Given the description of an element on the screen output the (x, y) to click on. 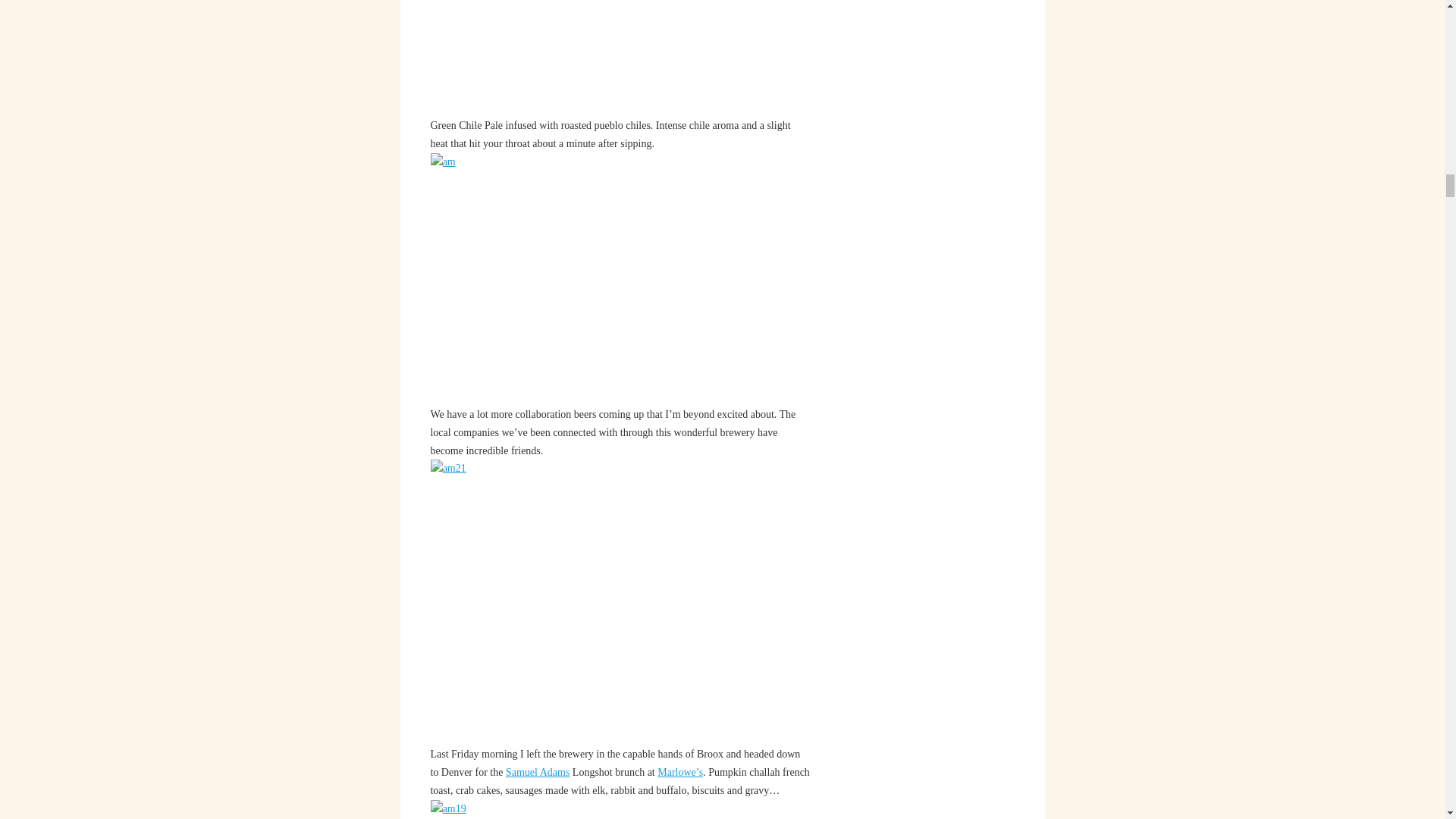
Samuel Adams Training (537, 772)
